Given the description of an element on the screen output the (x, y) to click on. 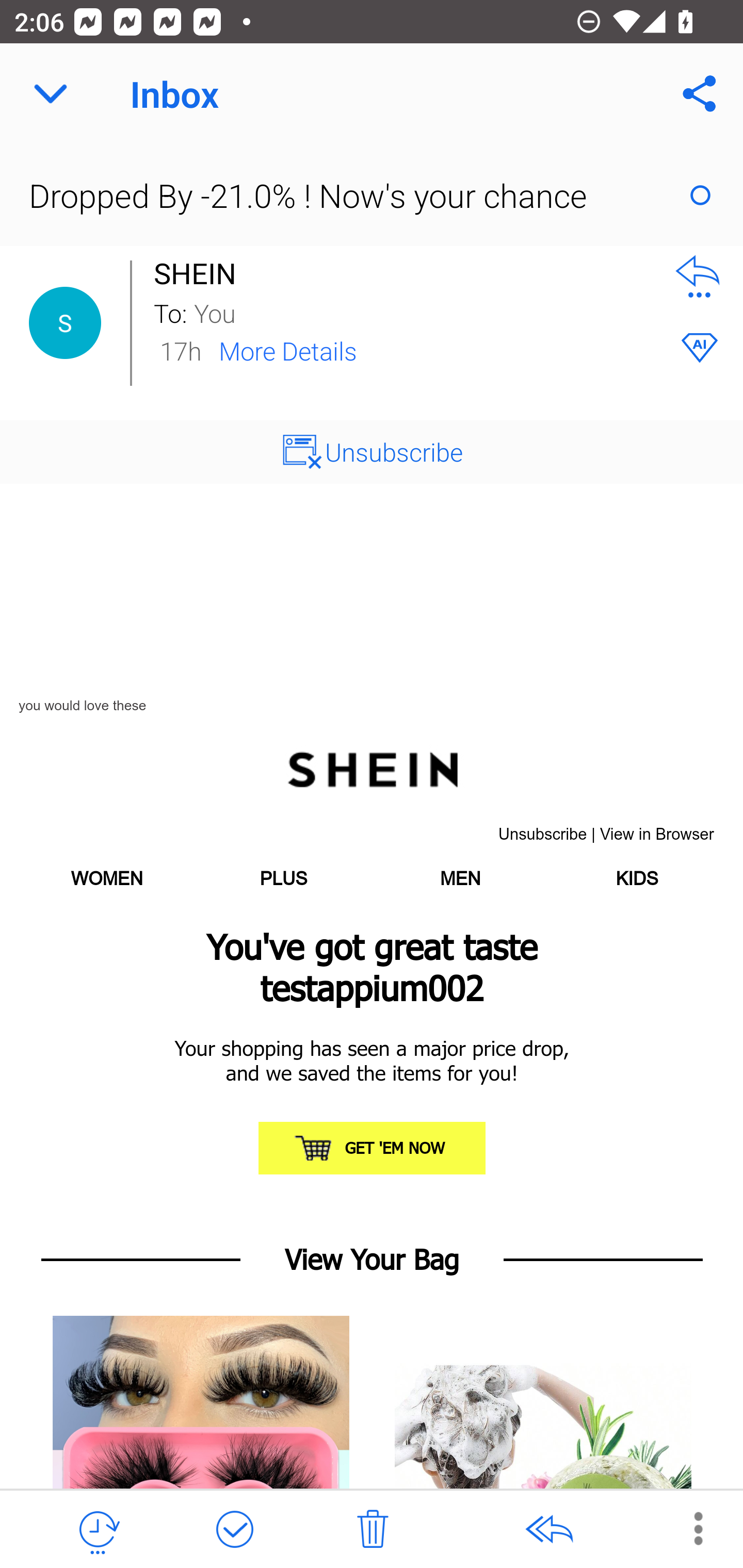
Navigate up (50, 93)
Share (699, 93)
Mark as Read (699, 194)
SHEIN (200, 273)
Contact Details (64, 322)
You (422, 311)
More Details (287, 349)
Unsubscribe (393, 451)
you would love these (82, 705)
shein (371, 767)
Unsubscribe (542, 834)
View in Browser (656, 834)
WOMEN (106, 878)
PLUS (282, 878)
MEN (460, 878)
KIDS (636, 878)
Load more (371, 979)
More Options (687, 1528)
Snooze (97, 1529)
Mark as Done (234, 1529)
Delete (372, 1529)
Reply All (548, 1529)
